Given the description of an element on the screen output the (x, y) to click on. 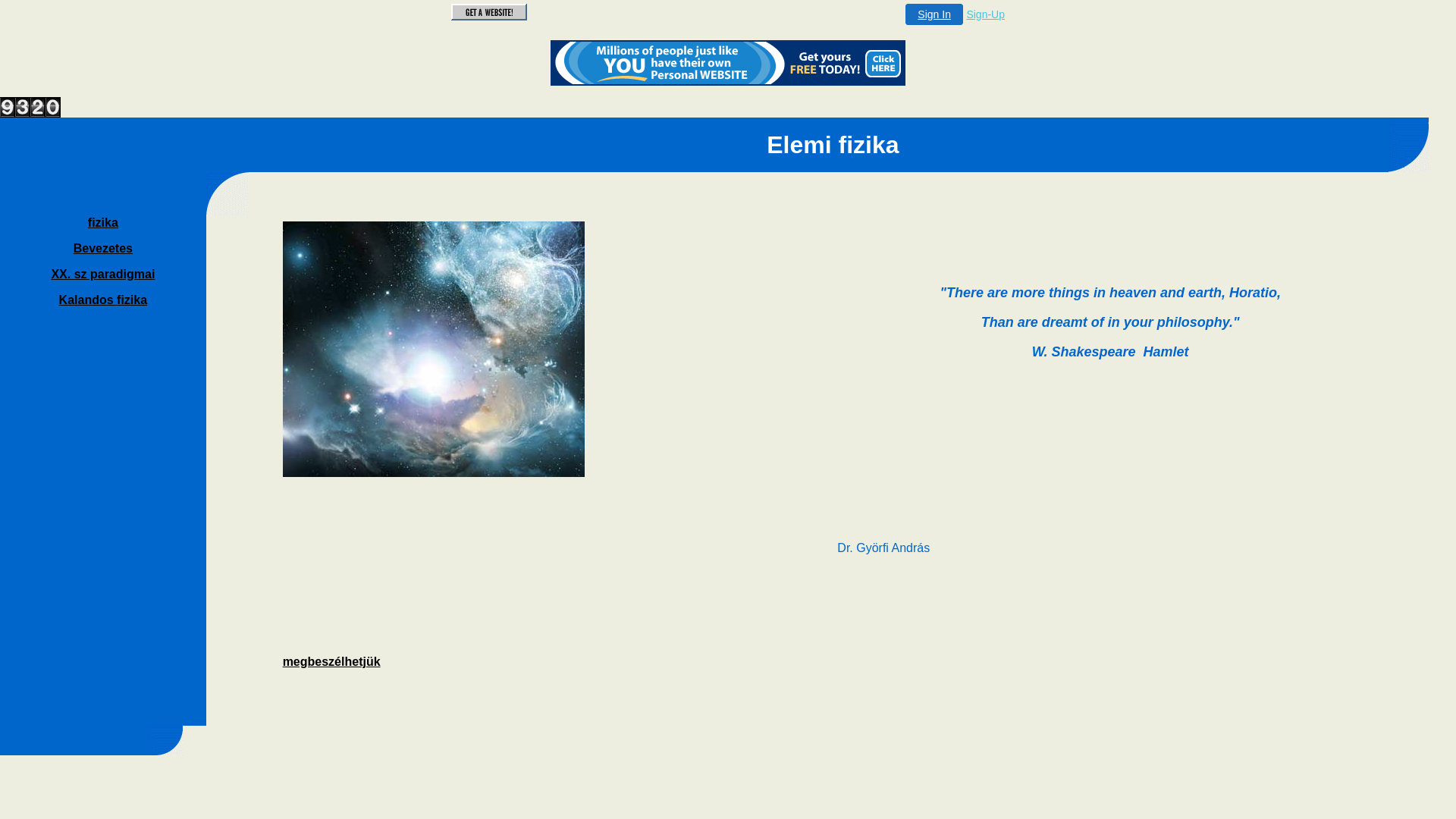
Bevezetes Element type: text (102, 247)
fizika Element type: text (102, 222)
XX. sz paradigmai Element type: text (102, 273)
Kalandos fizika Element type: text (103, 299)
Sign In Element type: text (934, 14)
Sign-Up Element type: text (985, 14)
